Given the description of an element on the screen output the (x, y) to click on. 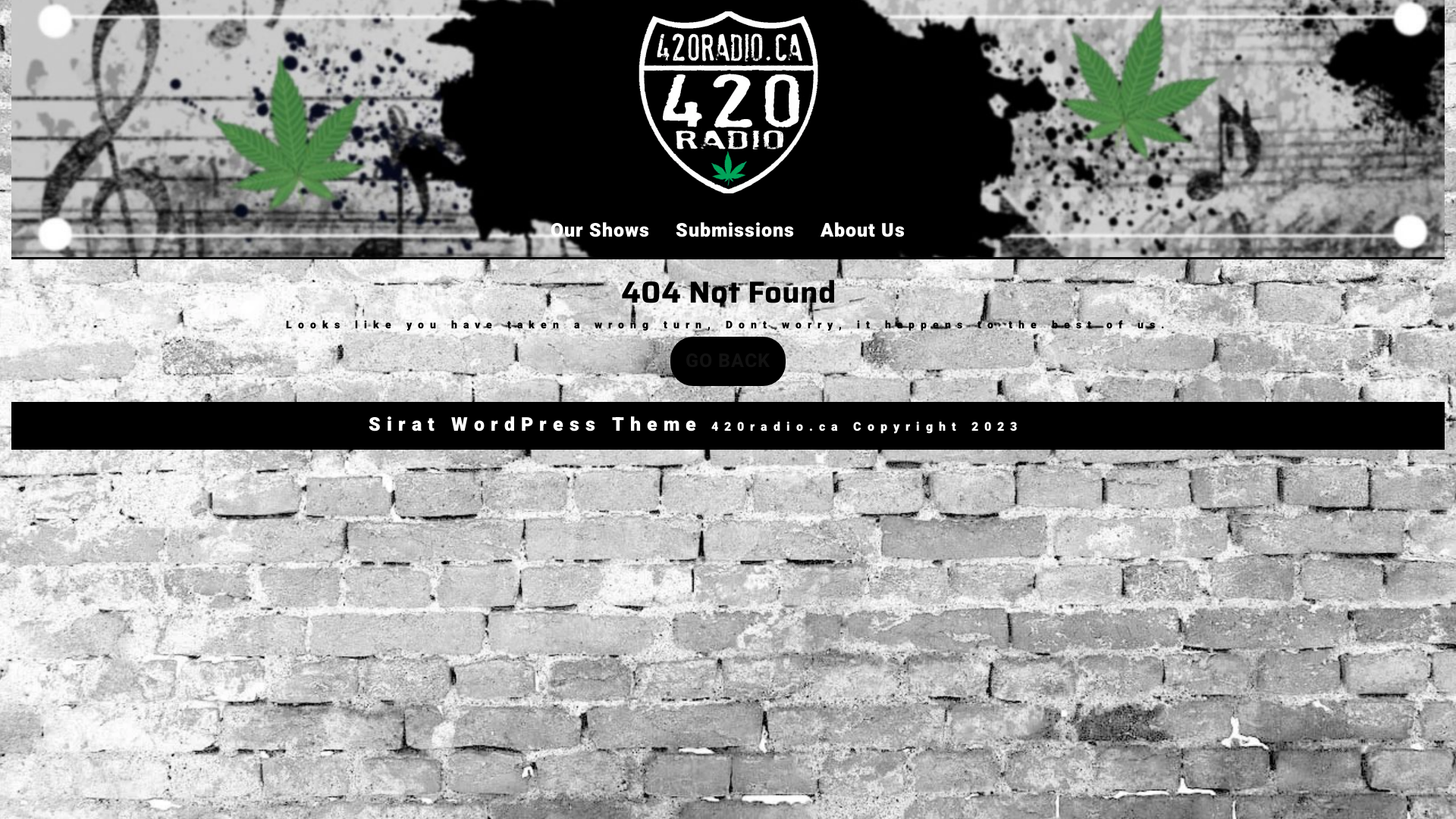
GO BACK
GO BACK Element type: text (727, 360)
Our Shows Element type: text (600, 230)
Submissions Element type: text (735, 230)
Sirat WordPress Theme Element type: text (535, 425)
About Us Element type: text (862, 230)
